Given the description of an element on the screen output the (x, y) to click on. 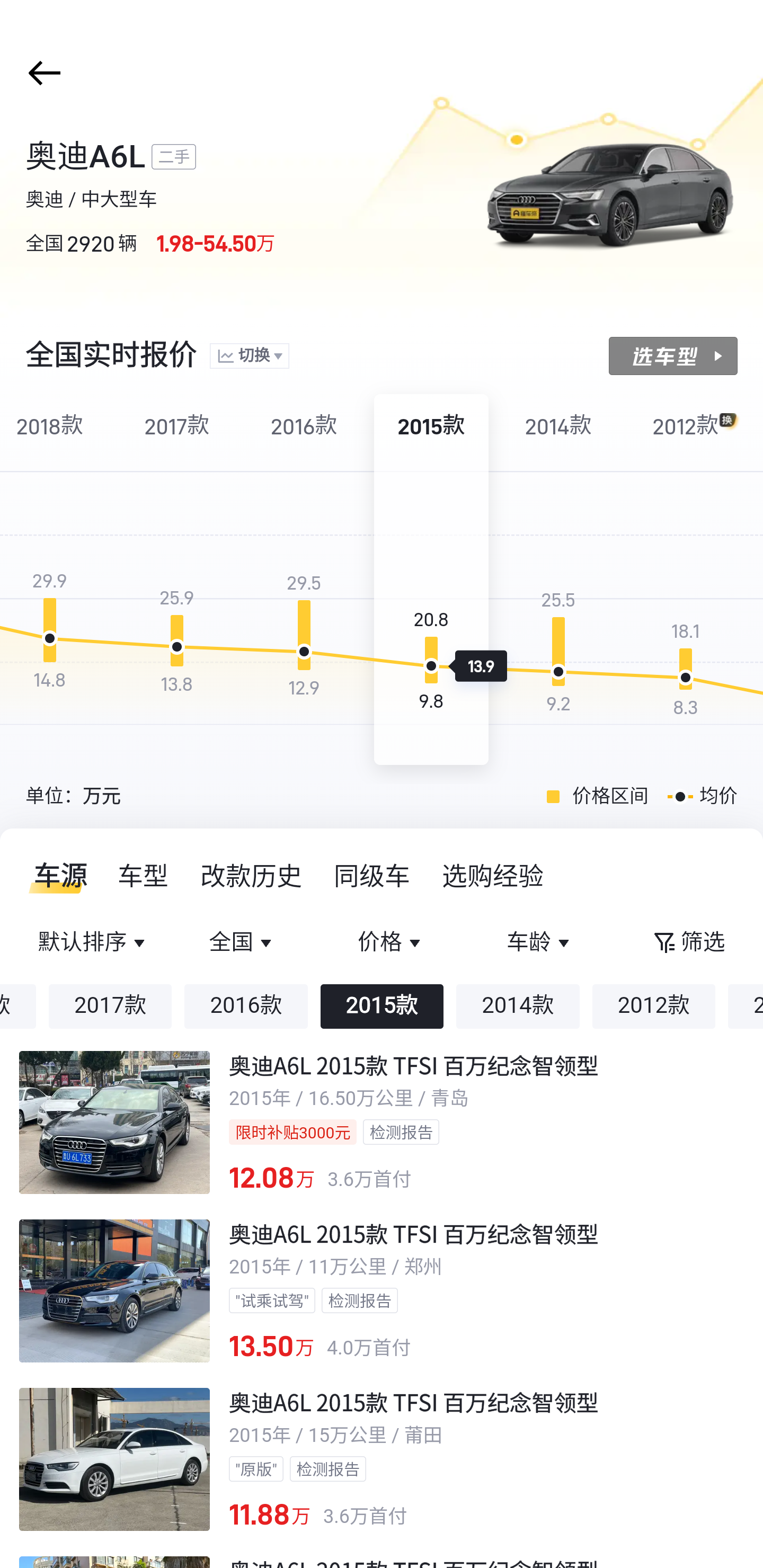
 (41, 72)
切换 (249, 356)
2018款 29.9 14.8 (54, 579)
2017款 25.9 13.8 (177, 579)
2016款 29.5 12.9 (304, 579)
2015款 20.8 9.8 (431, 579)
2014款 25.5 9.2 (558, 579)
2012 款 18.1 8.3 (685, 579)
车源 (55, 875)
车型 (143, 876)
改款历史 (251, 876)
同级车 (372, 876)
选购经验 (492, 876)
默认排序 (93, 943)
全国 (242, 943)
价格 (390, 943)
车龄 (538, 943)
筛选 (688, 943)
2017款 (110, 1006)
2016款 (246, 1006)
2015款 (381, 1006)
2014款 (517, 1006)
2012款 (654, 1006)
